Given the description of an element on the screen output the (x, y) to click on. 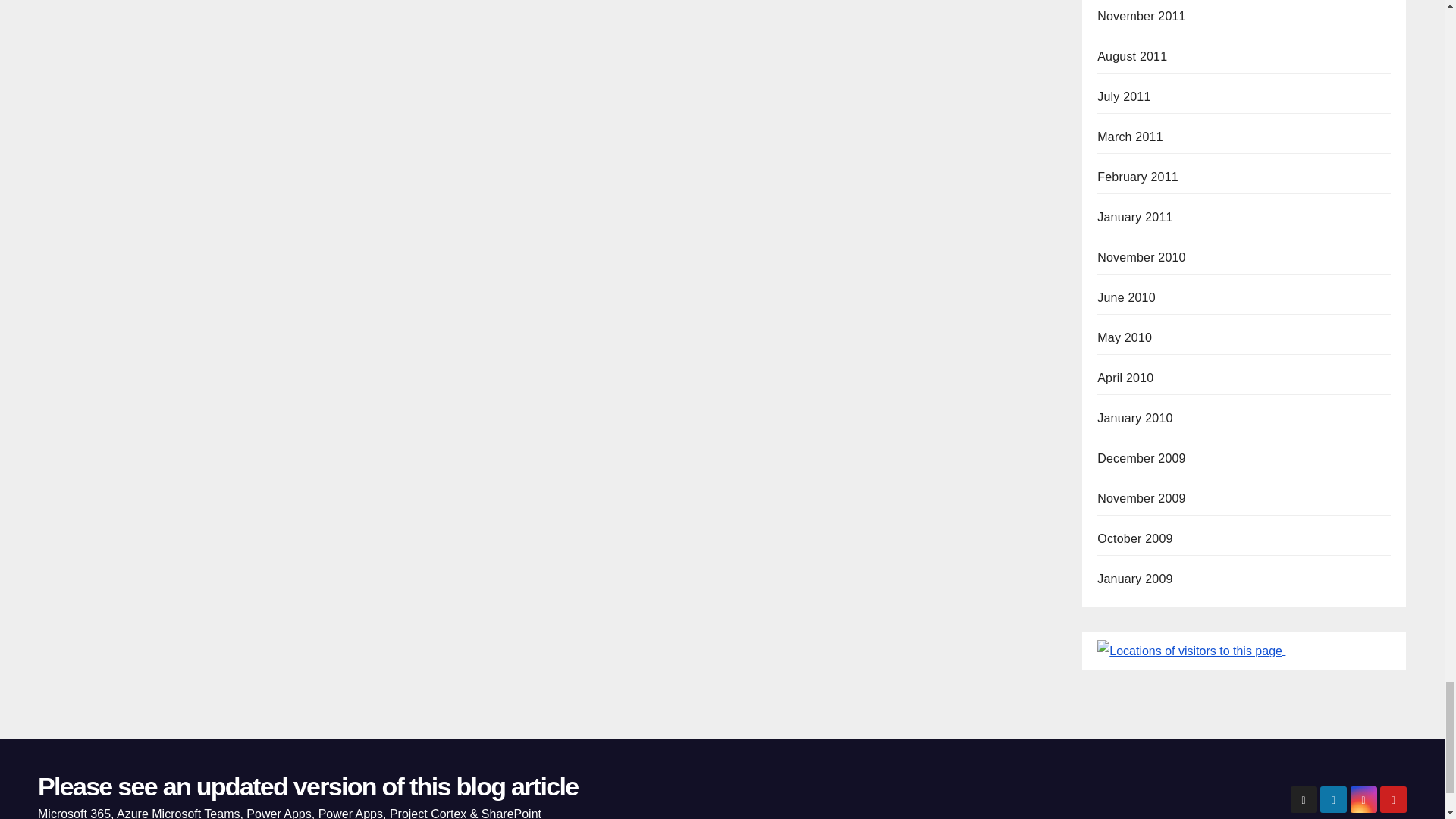
Locations of visitors to this page (1189, 650)
